Given the description of an element on the screen output the (x, y) to click on. 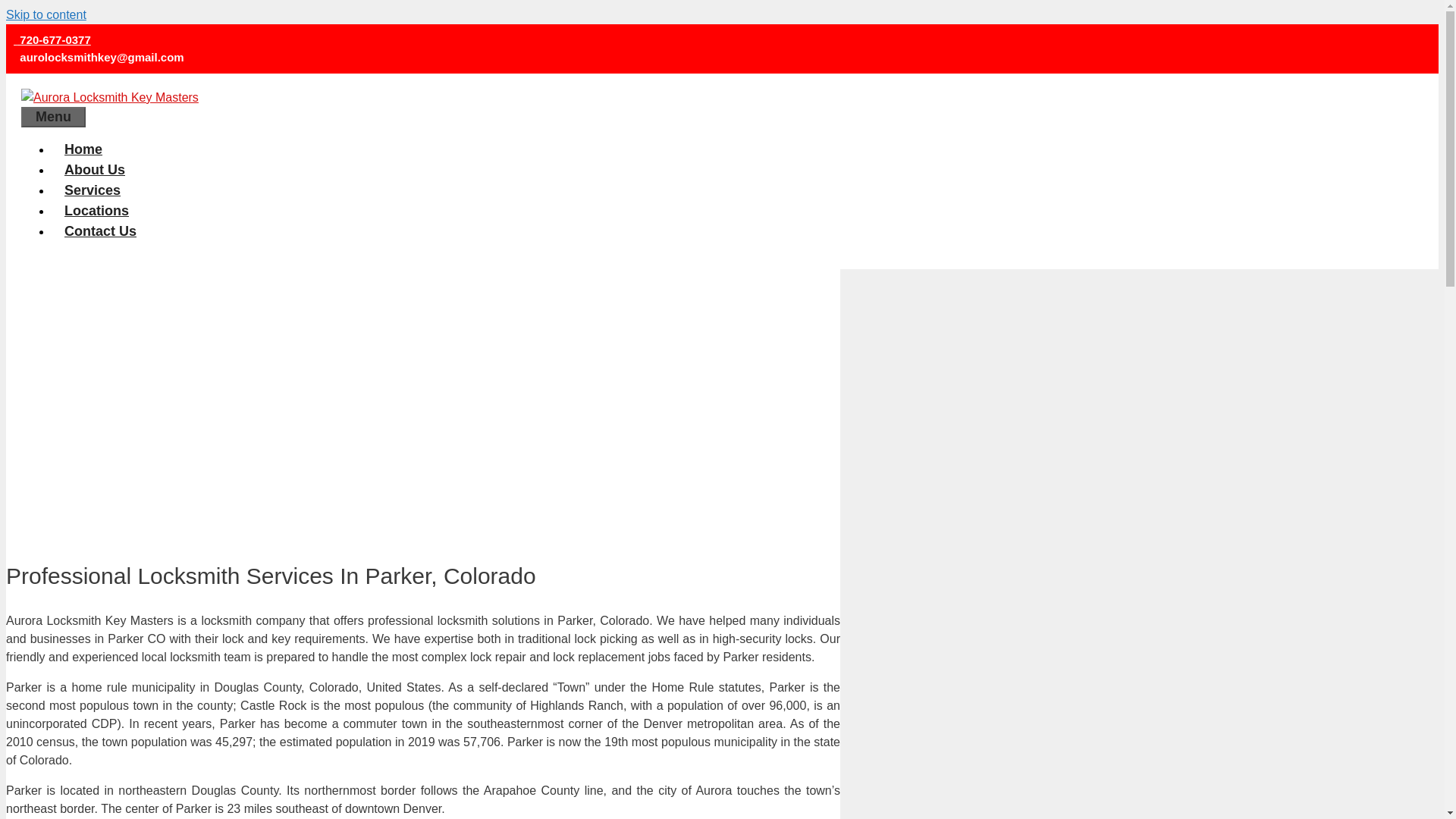
Aurora Locksmith Key Masters (109, 97)
Home (82, 149)
Services (91, 190)
Menu (53, 117)
  720-677-0377 (51, 39)
Skip to content (45, 14)
Skip to content (45, 14)
Aurora Locksmith Key Masters (109, 97)
About Us (94, 169)
Contact Us (99, 231)
